Given the description of an element on the screen output the (x, y) to click on. 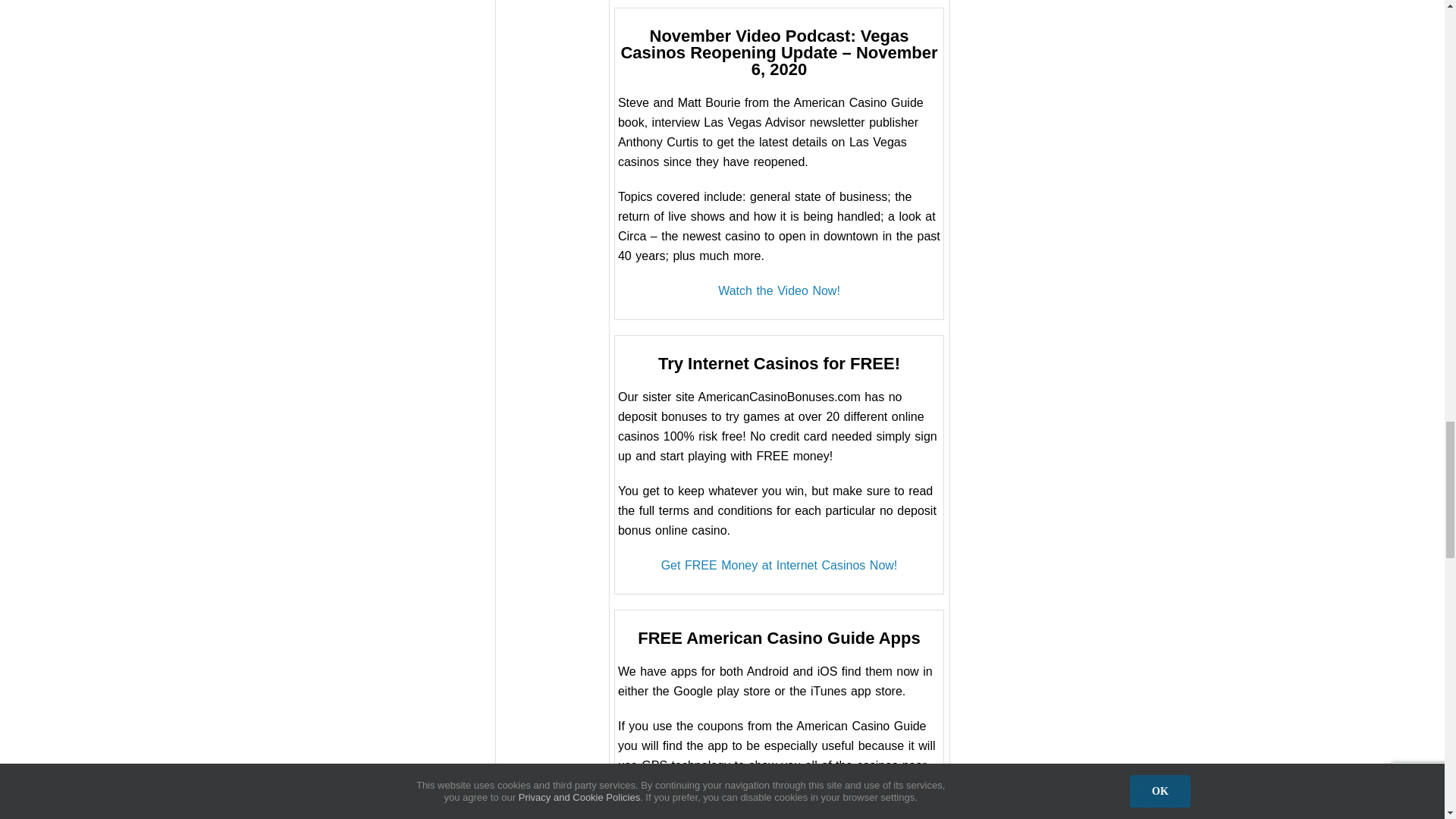
24 No Deposit Bonus Codes (779, 564)
How to gamble videos (778, 290)
